Given the description of an element on the screen output the (x, y) to click on. 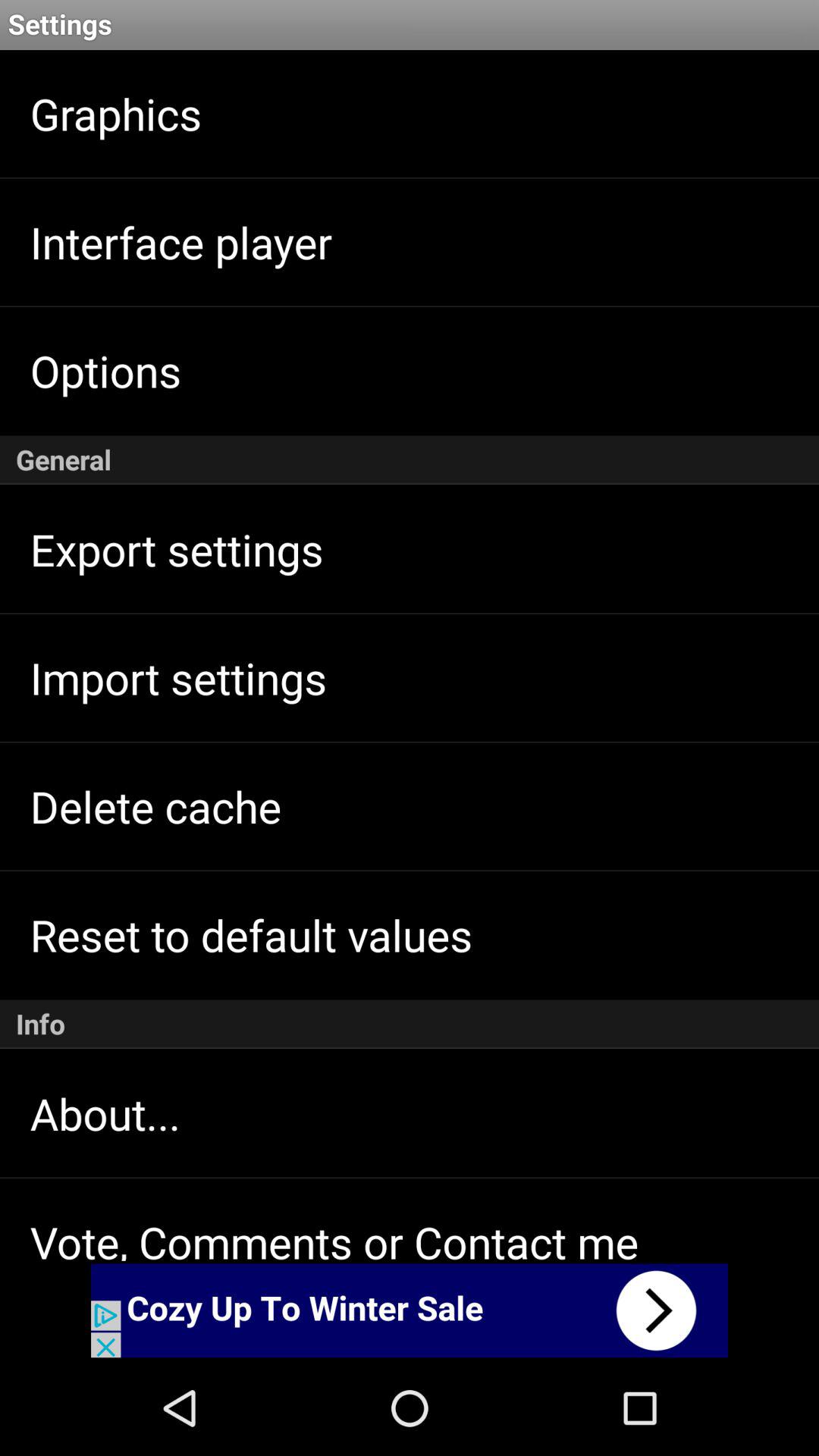
next the option (409, 1310)
